Given the description of an element on the screen output the (x, y) to click on. 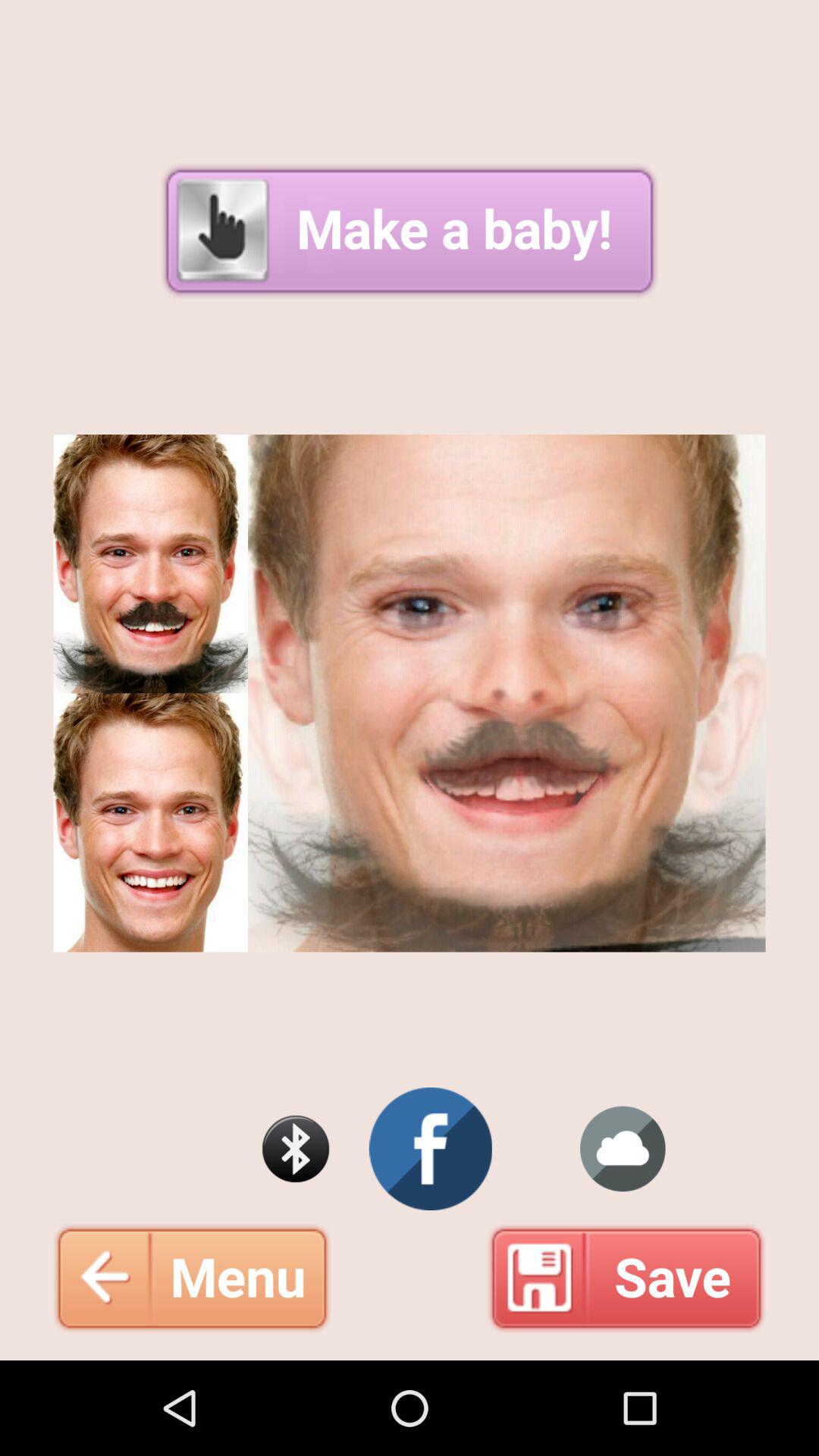
click save item (626, 1278)
